Given the description of an element on the screen output the (x, y) to click on. 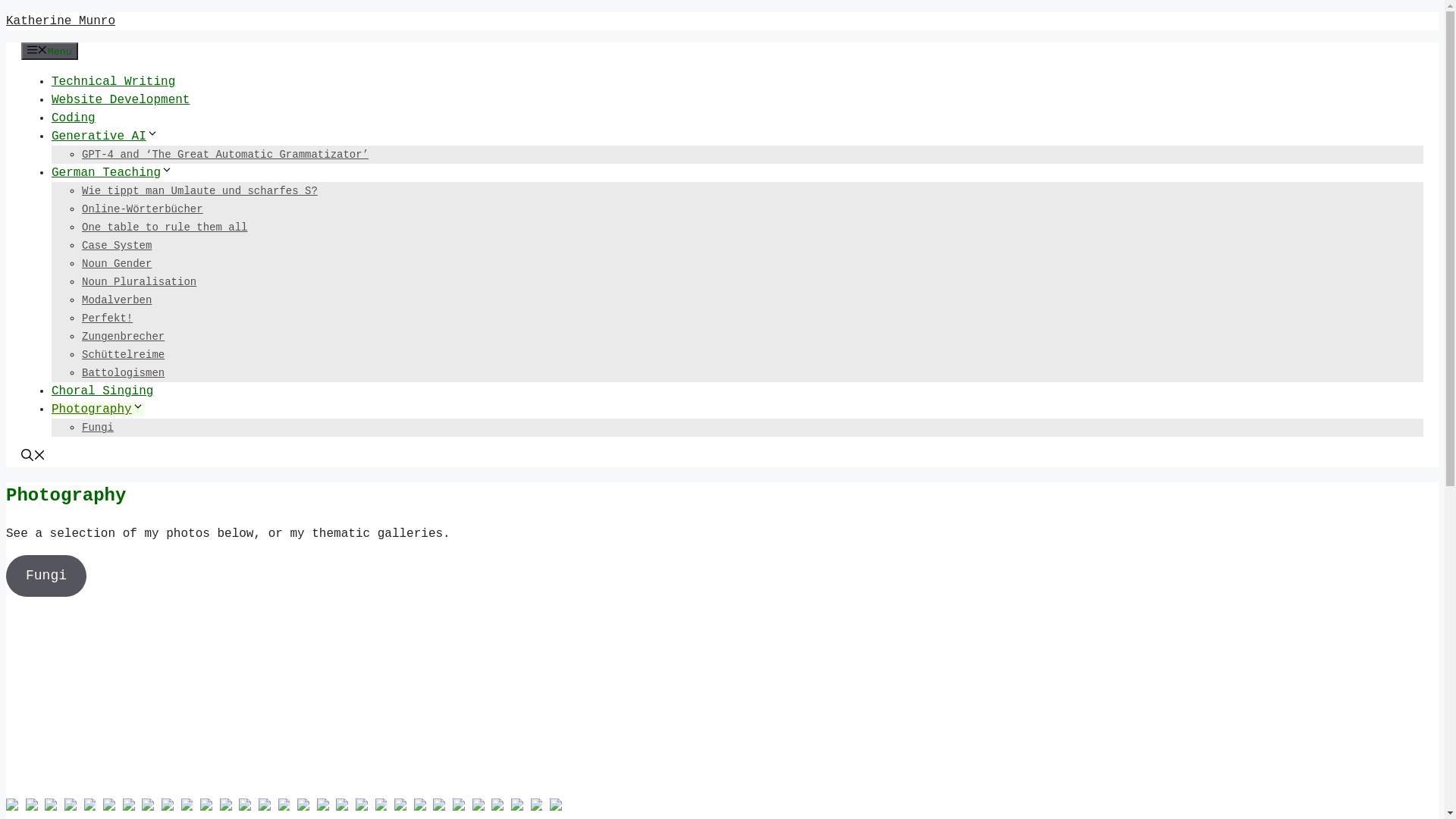
Choral Singing Element type: text (102, 391)
Technical Writing Element type: text (113, 81)
Generative AI Element type: text (104, 136)
Modalverben Element type: text (116, 300)
Wie tippt man Umlaute und scharfes S? Element type: text (199, 191)
Coding Element type: text (73, 118)
Fungi Element type: text (97, 427)
Fungi Element type: text (46, 575)
Battologismen Element type: text (122, 373)
Perfekt! Element type: text (106, 318)
Case System Element type: text (116, 245)
One table to rule them all Element type: text (164, 227)
Noun Gender Element type: text (116, 263)
Skip to content Element type: text (5, 11)
Website Development Element type: text (120, 99)
Noun Pluralisation Element type: text (138, 282)
German Teaching Element type: text (111, 172)
Photography Element type: text (97, 409)
Katherine Munro Element type: text (60, 21)
Zungenbrecher Element type: text (122, 336)
Menu Element type: text (49, 50)
